Given the description of an element on the screen output the (x, y) to click on. 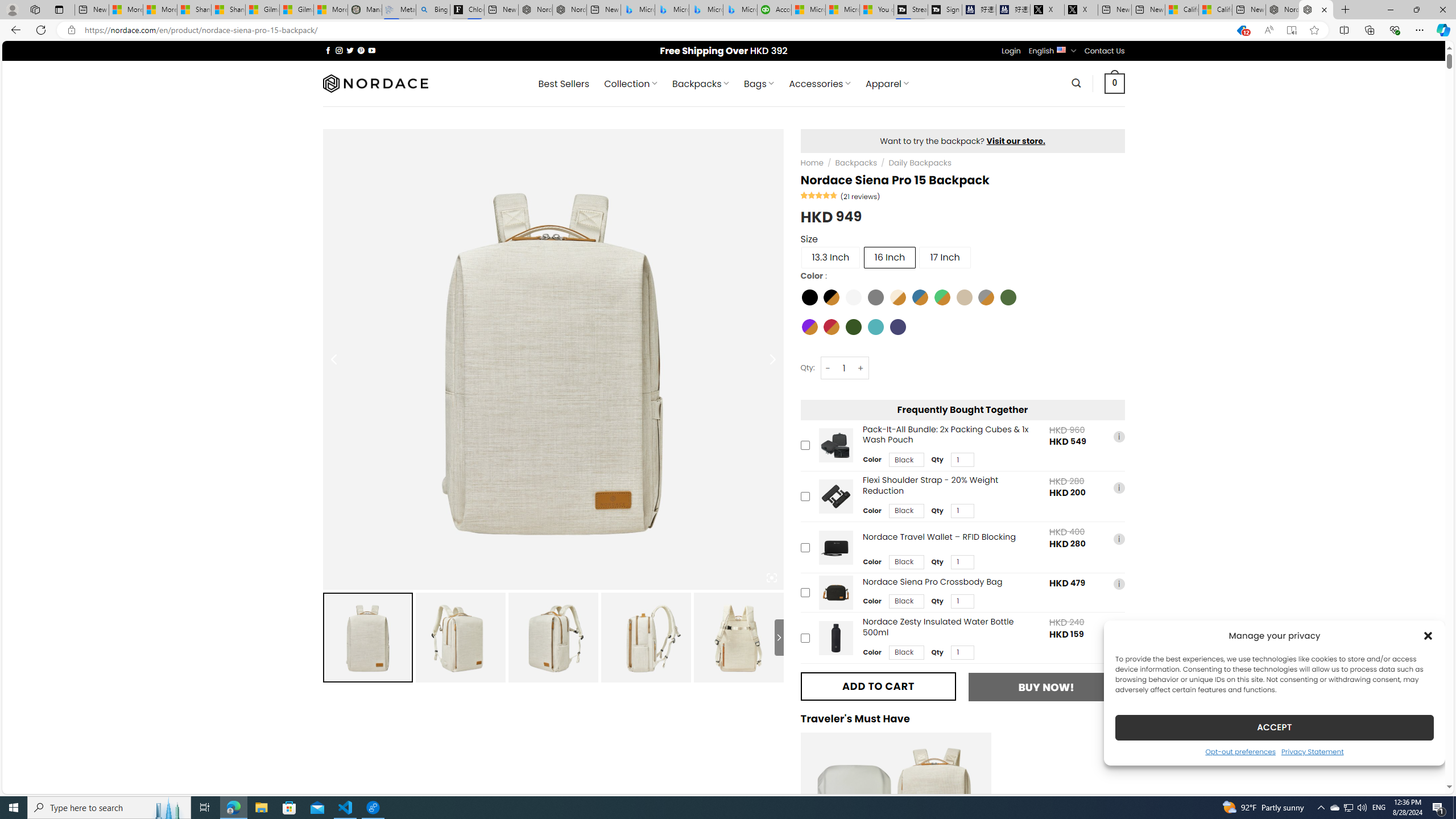
Flexi Shoulder Strap - 20% Weight Reduction (835, 496)
Nordace Siena Pro 15 Backpack (1316, 9)
Login (1010, 50)
Add this product to cart (804, 637)
Class: cmplz-close (1428, 635)
Nordace - Best Sellers (1282, 9)
ACCEPT (1274, 727)
